Given the description of an element on the screen output the (x, y) to click on. 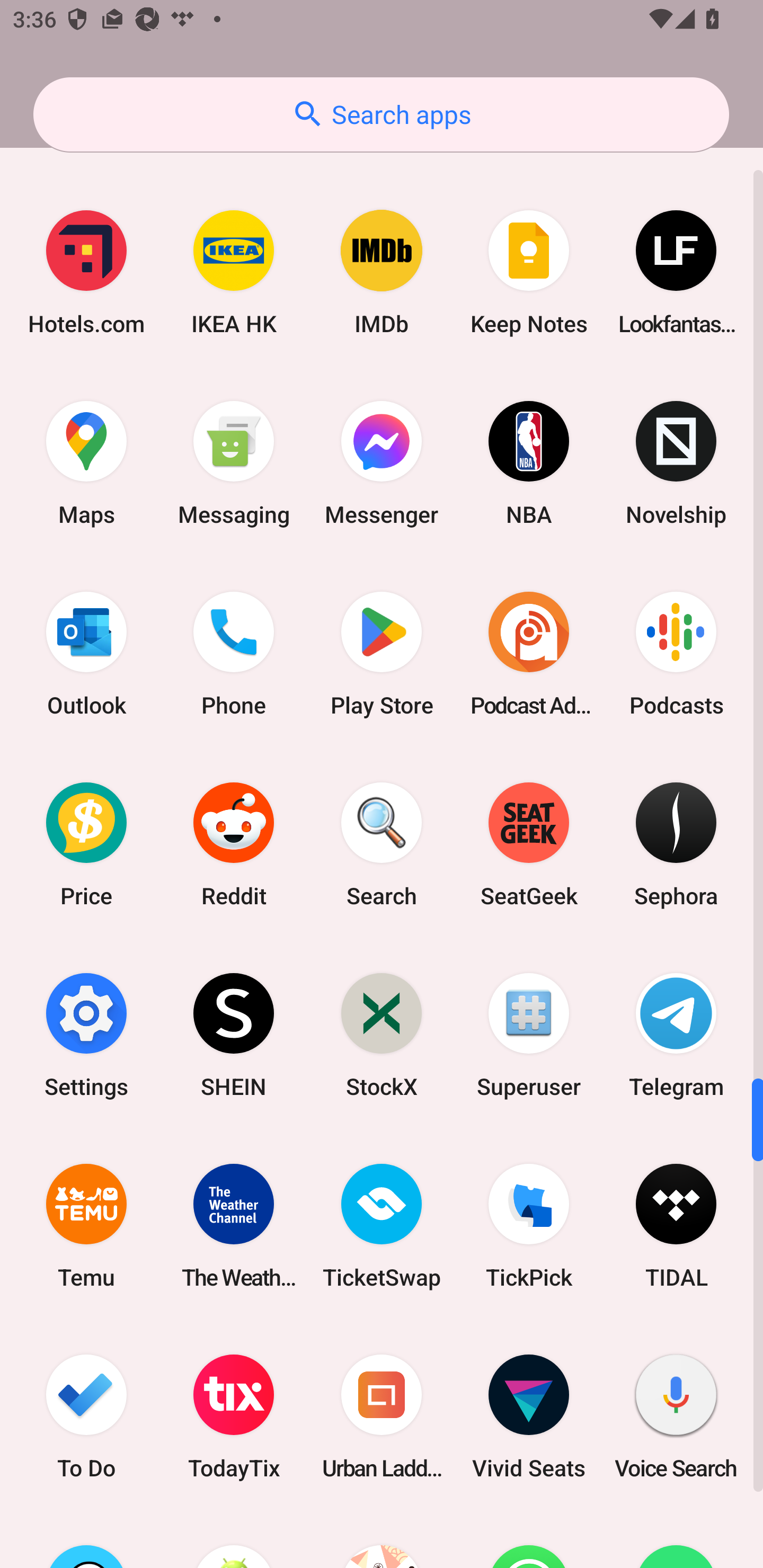
To Do (86, 1416)
